Given the description of an element on the screen output the (x, y) to click on. 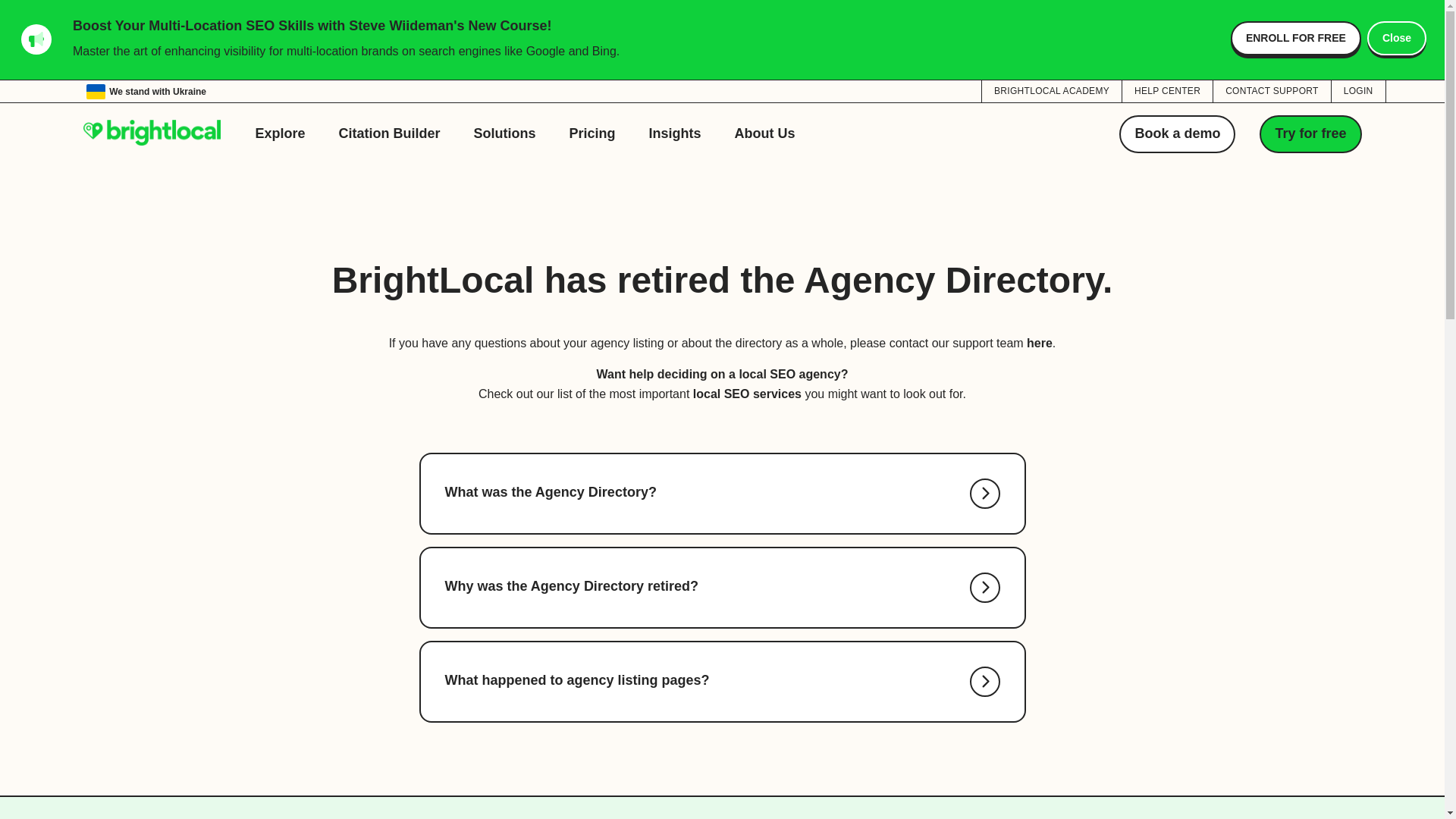
HELP CENTER (1167, 90)
Explore (279, 134)
We stand with Ukraine (145, 91)
Close (1396, 38)
CONTACT SUPPORT (1271, 90)
Citation Builder (390, 134)
ENROLL FOR FREE (1295, 38)
BRIGHTLOCAL ACADEMY (1051, 90)
Solutions (505, 134)
LOGIN (1359, 90)
ENROLL FOR FREE (1295, 38)
